Given the description of an element on the screen output the (x, y) to click on. 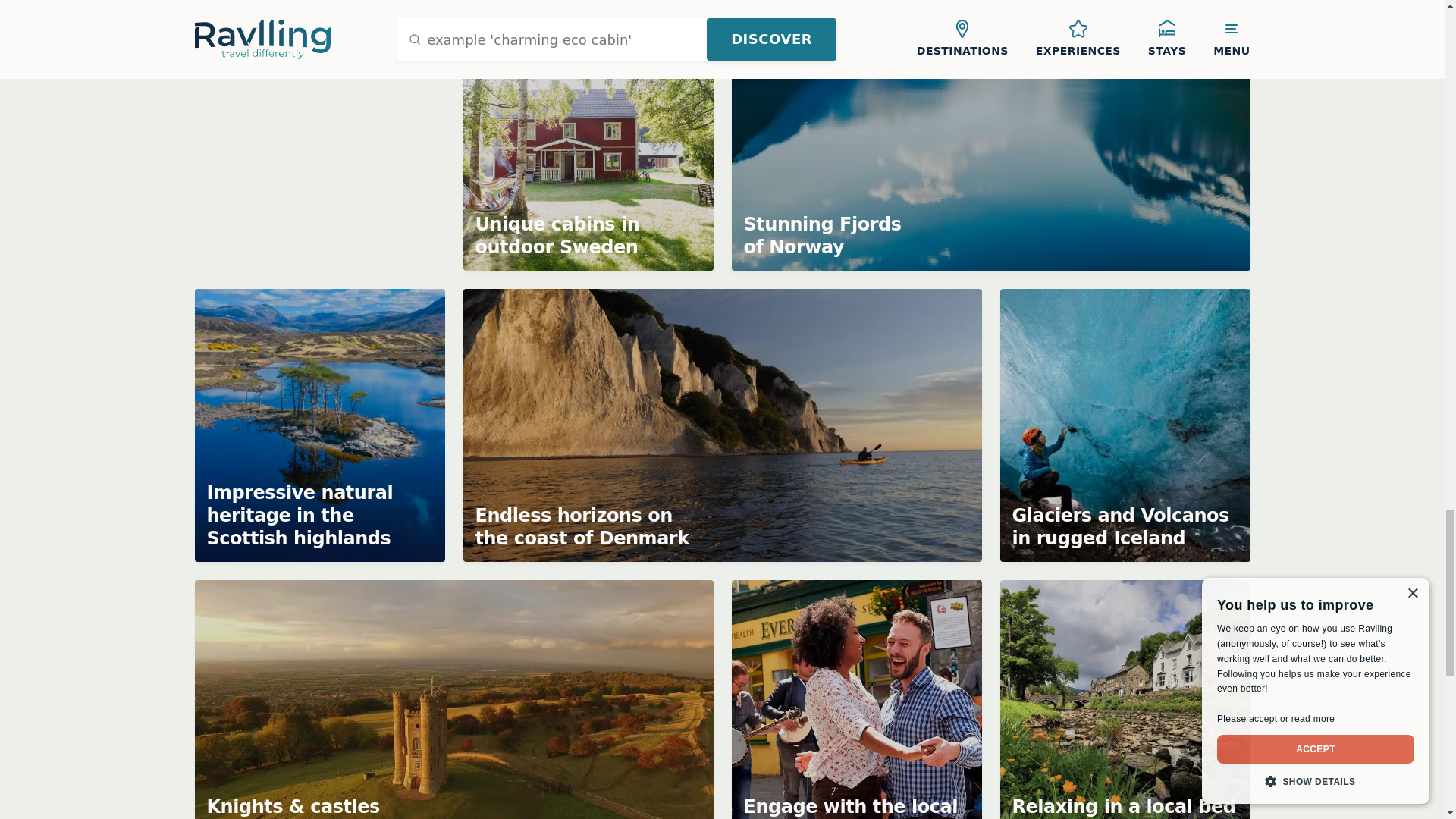
Engage with the local people of Ireland (855, 699)
Unique cabins in outdoor Sweden (588, 135)
Glaciers and Volcanos in rugged Iceland (1123, 425)
Impressive natural heritage in the Scottish highlands (318, 425)
